Given the description of an element on the screen output the (x, y) to click on. 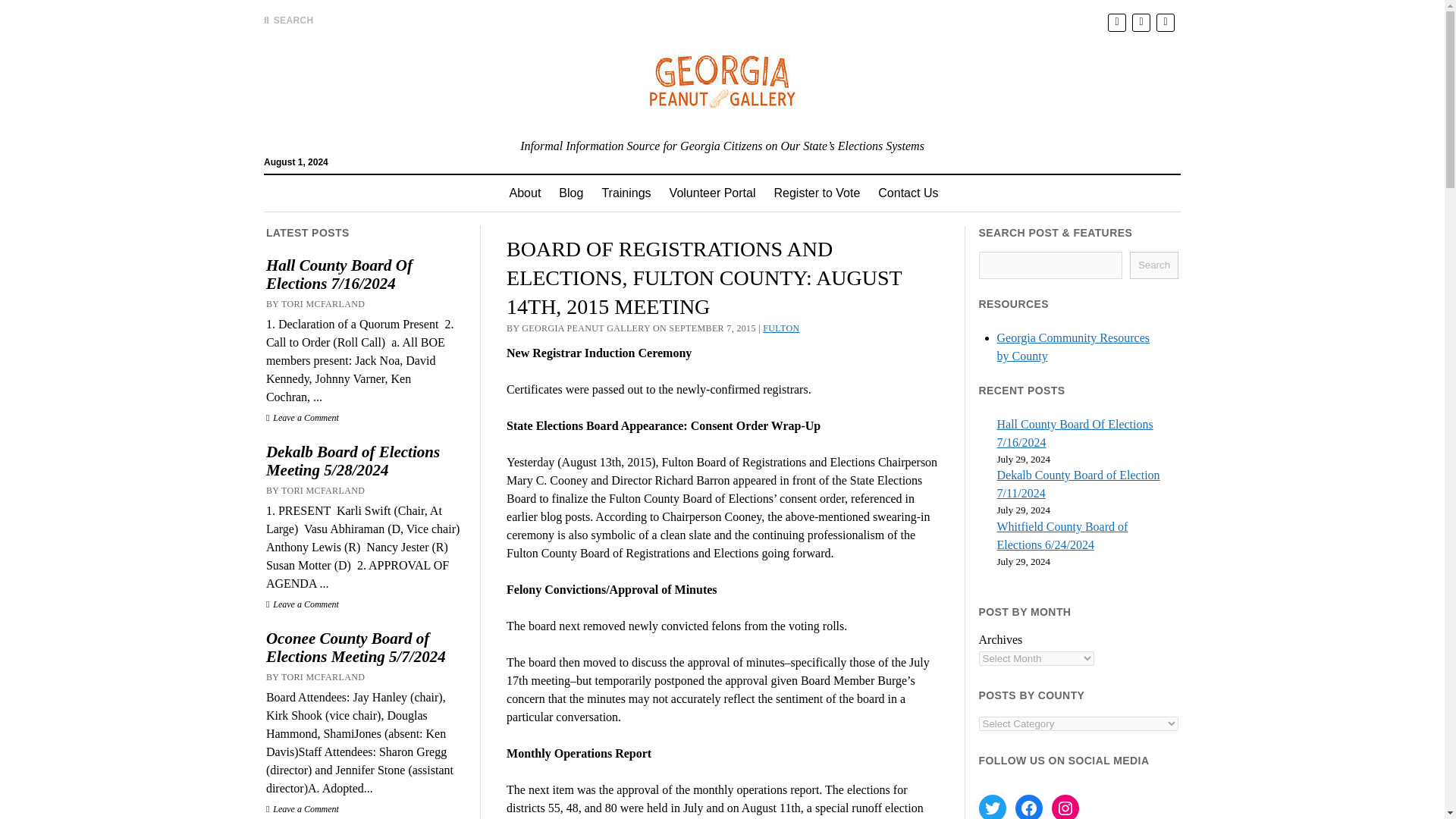
Leave a Comment (302, 808)
About (525, 193)
Leave a Comment (302, 603)
Blog (571, 193)
Register to Vote (816, 193)
Leave a Comment (302, 417)
SEARCH (288, 20)
View all posts in Fulton (780, 327)
Volunteer Portal (713, 193)
Contact Us (908, 193)
Search (945, 129)
Trainings (625, 193)
FULTON (780, 327)
